Given the description of an element on the screen output the (x, y) to click on. 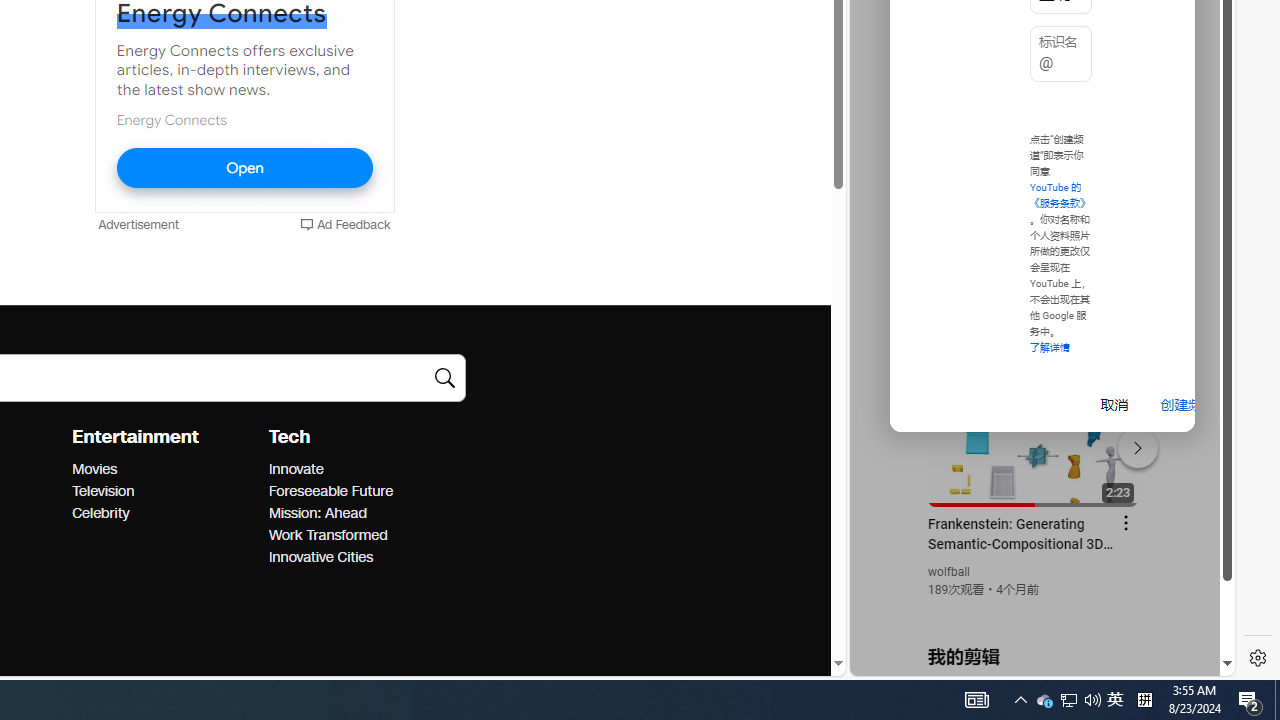
Tech Foreseeable Future (330, 491)
YouTube - YouTube (1034, 266)
EntertainmentMoviesTelevisionCelebrity (169, 474)
Celebrity (164, 513)
Tech Work Transformed (327, 535)
Actions for this site (1131, 443)
Entertainment Television (102, 491)
Open (244, 168)
you (1034, 609)
Innovative Cities (360, 557)
